Given the description of an element on the screen output the (x, y) to click on. 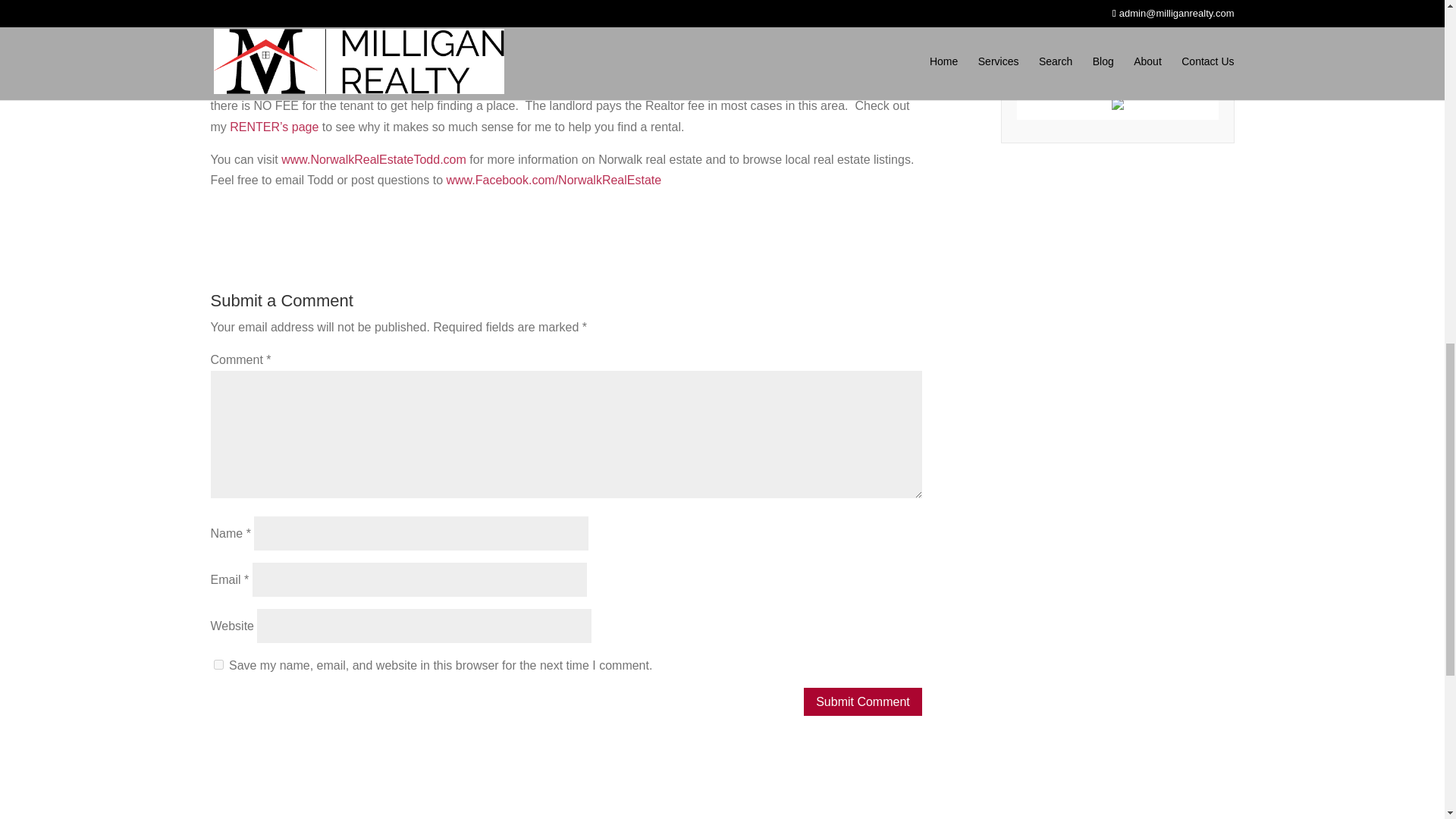
yes (219, 664)
Submit Comment (862, 701)
Submit Comment (862, 701)
www.NorwalkRealEstateTodd.com (373, 159)
